Given the description of an element on the screen output the (x, y) to click on. 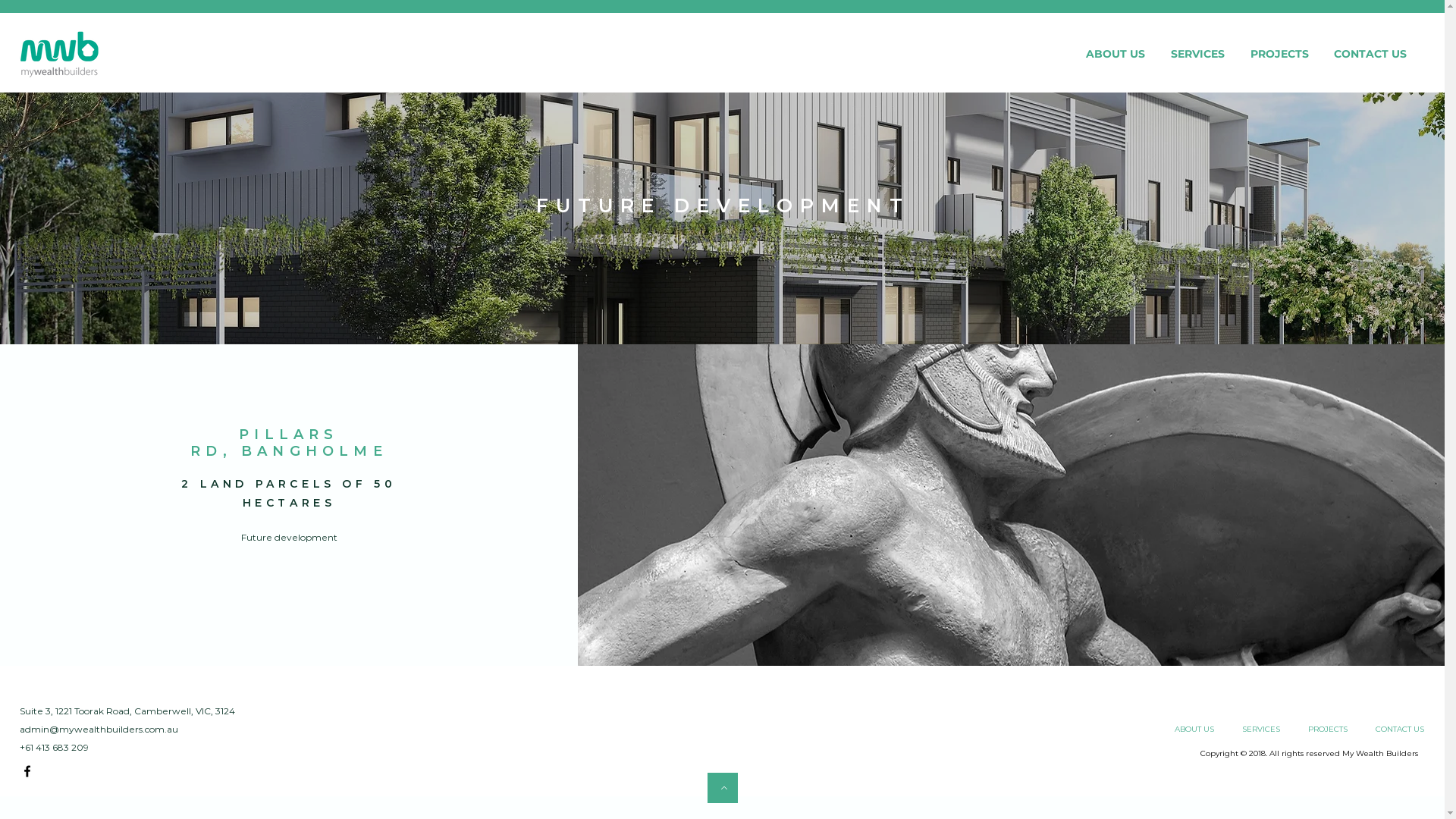
CONTACT US Element type: text (1396, 729)
ABOUT US Element type: text (1115, 53)
ABOUT US Element type: text (1191, 729)
admin@mywealthbuilders.com.au Element type: text (98, 728)
PROJECTS Element type: text (1279, 53)
PROJECTS Element type: text (1324, 729)
SERVICES Element type: text (1197, 53)
SERVICES Element type: text (1258, 729)
CONTACT US Element type: text (1369, 53)
